Given the description of an element on the screen output the (x, y) to click on. 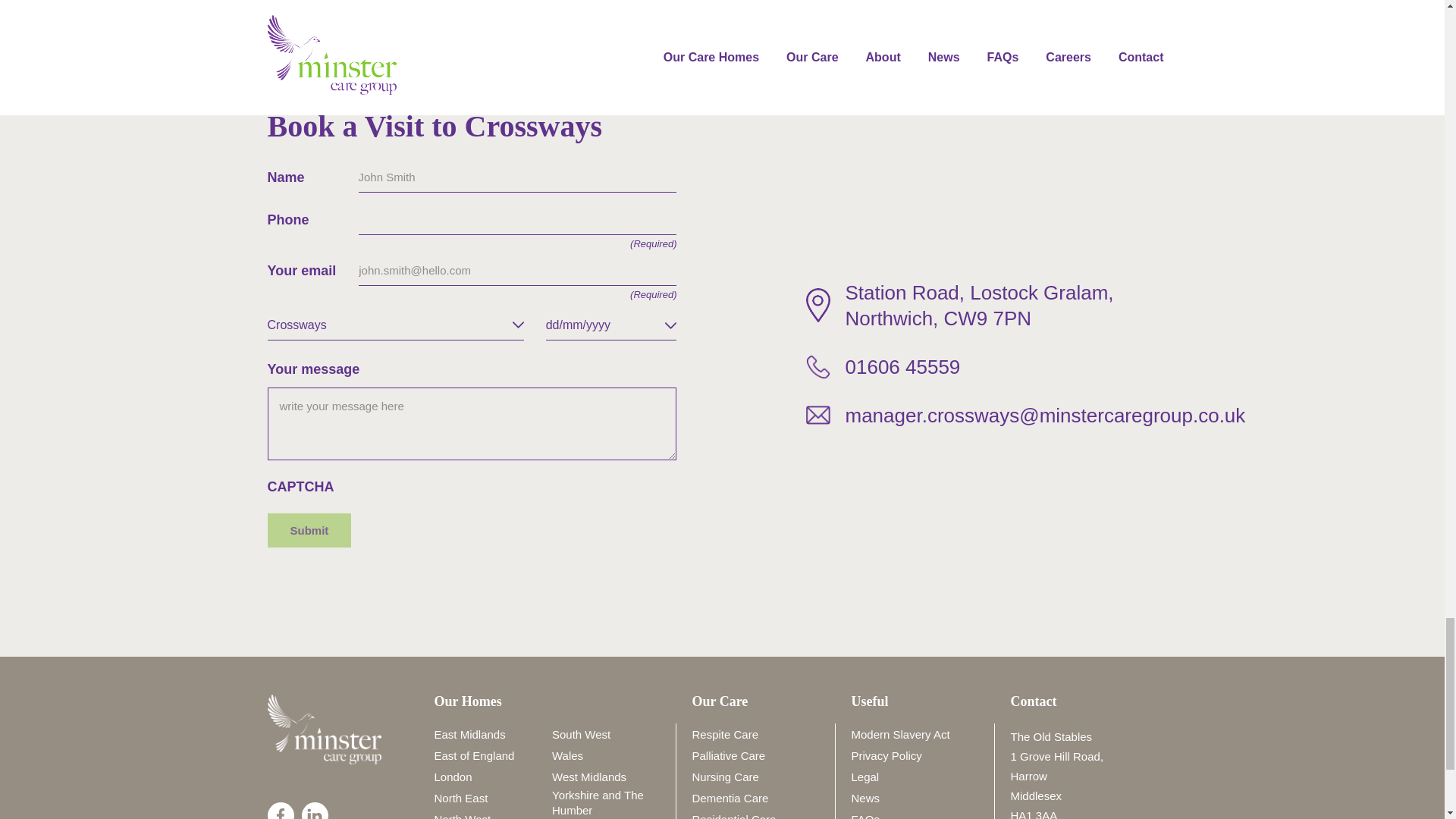
Submit (308, 530)
